Given the description of an element on the screen output the (x, y) to click on. 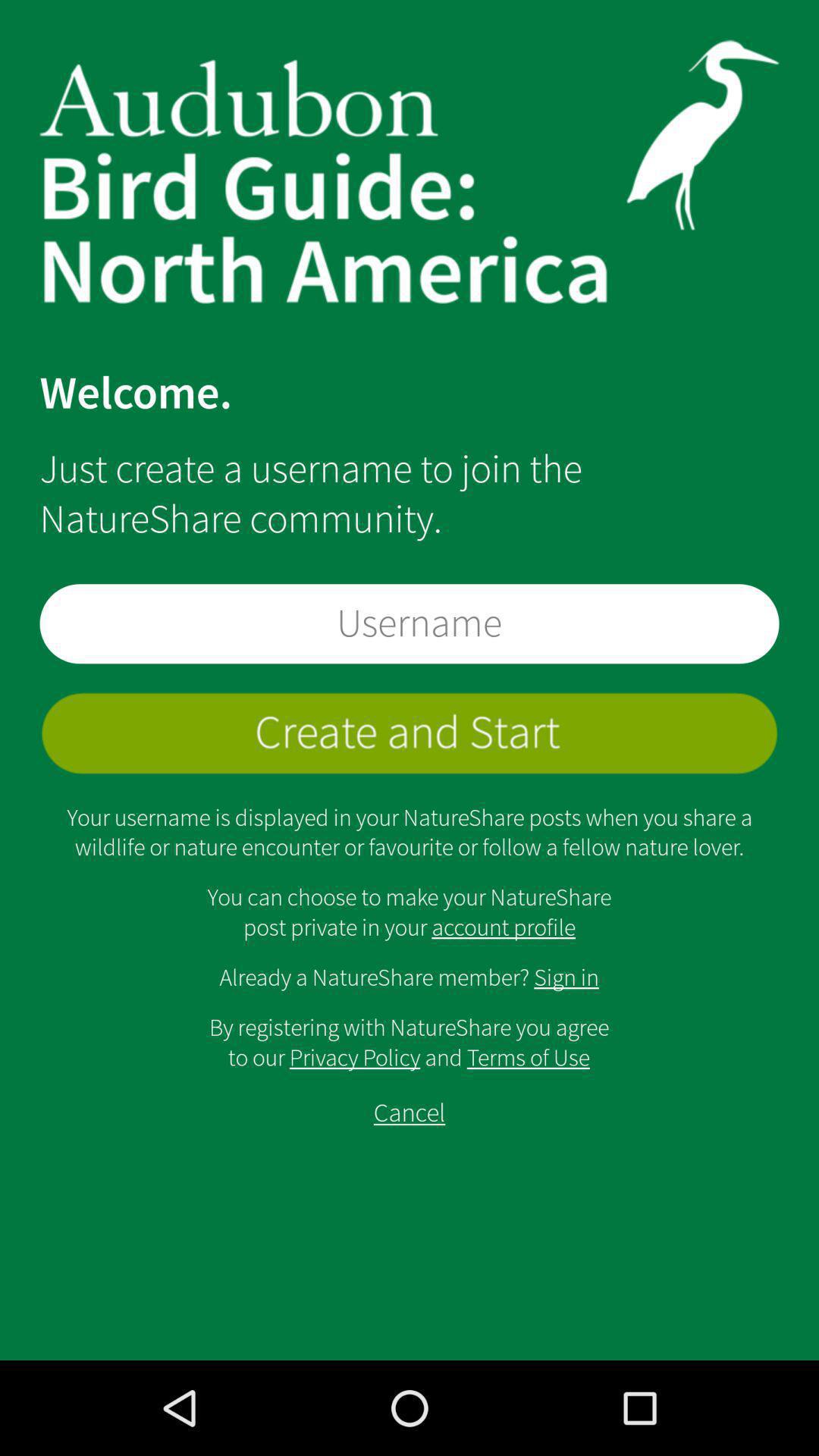
create account (409, 733)
